Given the description of an element on the screen output the (x, y) to click on. 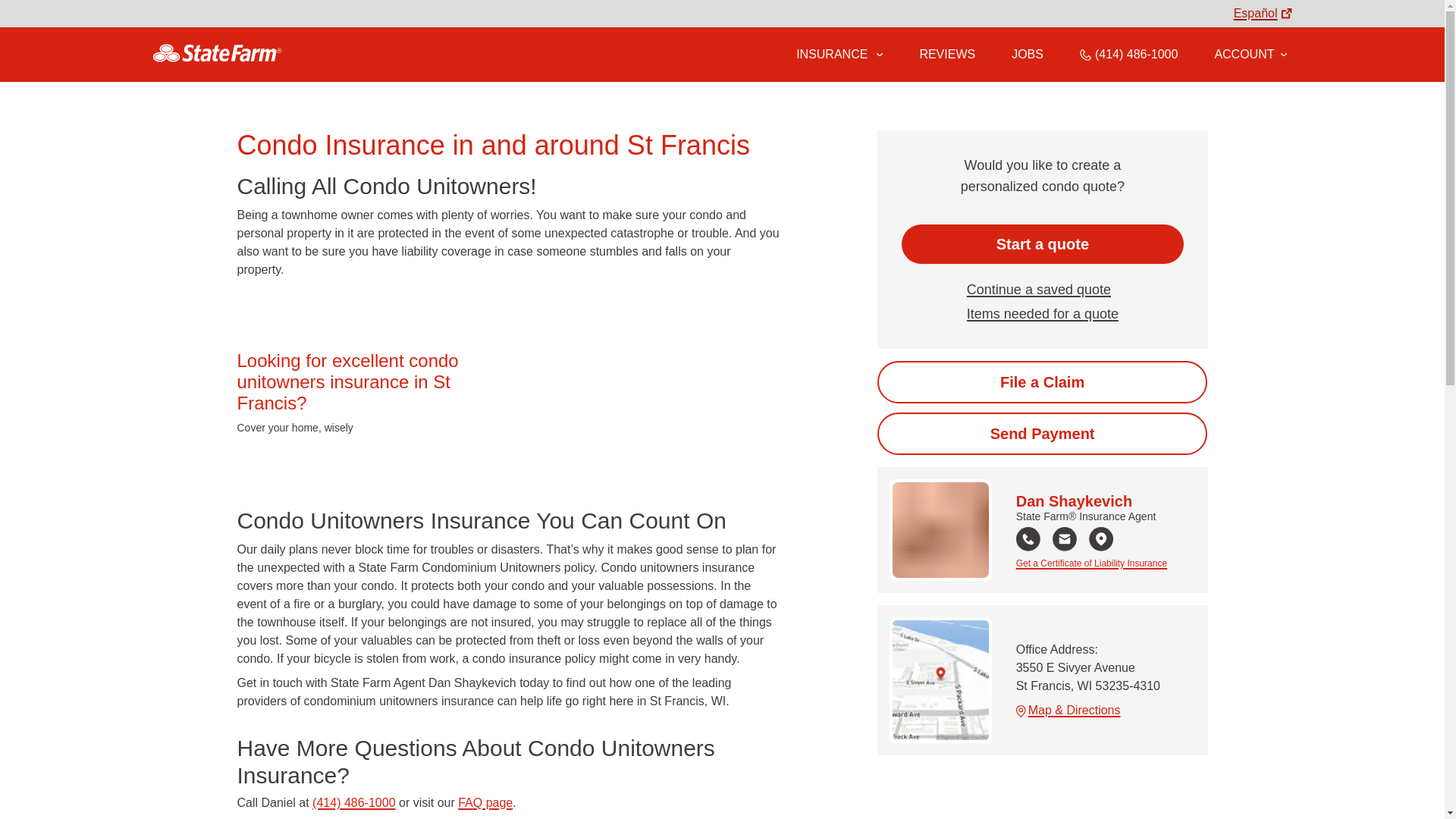
Account Options (1250, 54)
REVIEWS (946, 54)
JOBS (1027, 54)
Insurance (839, 54)
INSURANCE (830, 54)
ACCOUNT (1250, 54)
Start the claim process online (1042, 382)
FAQ page (485, 802)
